Given the description of an element on the screen output the (x, y) to click on. 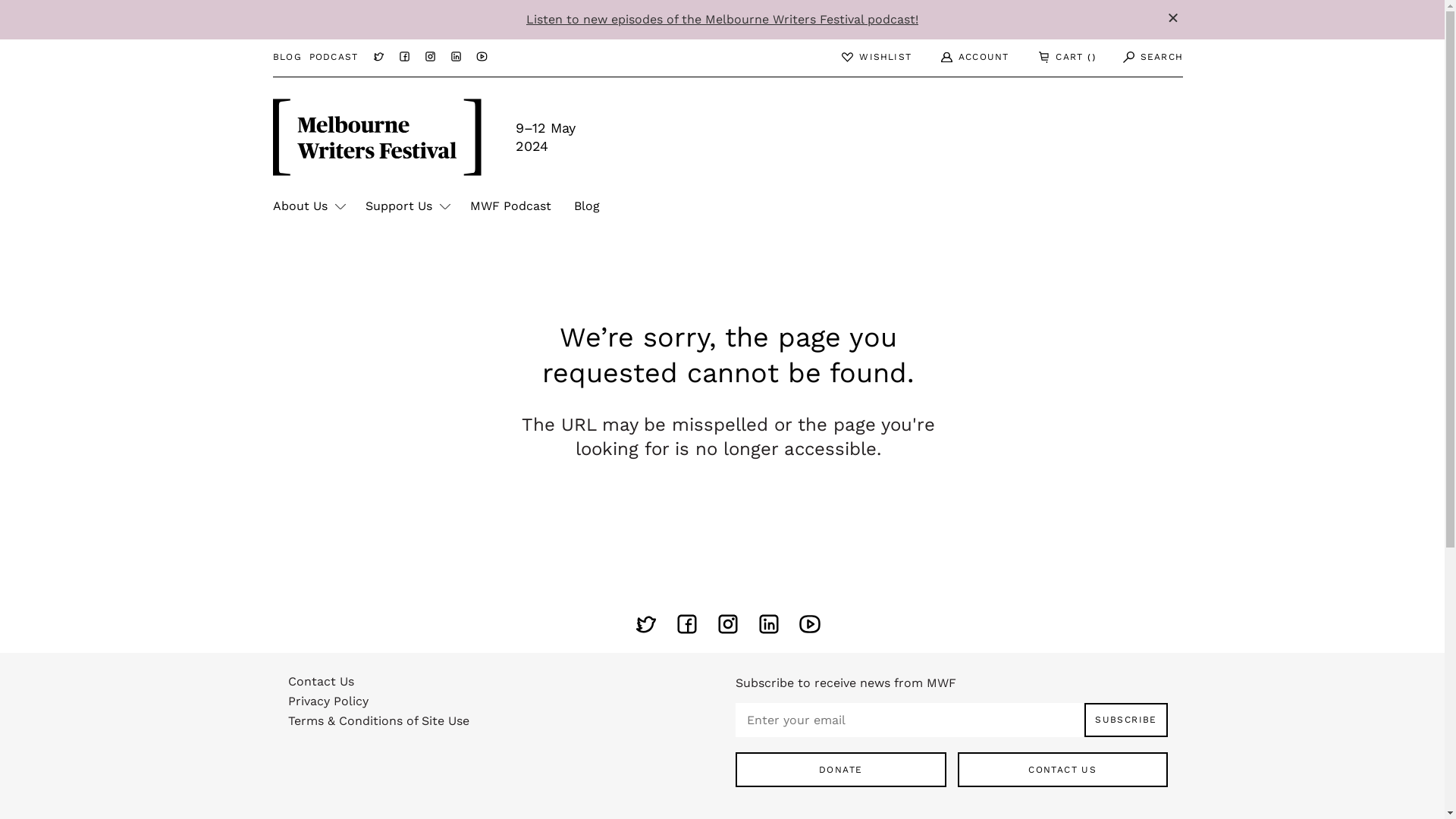
Support Us Element type: text (406, 206)
DONATE Element type: text (840, 769)
Blog Element type: text (586, 206)
Search Element type: text (1145, 58)
Contact Us Element type: text (504, 685)
Privacy Policy Element type: text (504, 705)
ACCOUNT Element type: text (965, 56)
WISHLIST Element type: text (866, 56)
CONTACT US Element type: text (1062, 769)
Terms & Conditions of Site Use Element type: text (504, 724)
About Us Element type: text (307, 206)
BLOG Element type: text (287, 57)
CART () Element type: text (1057, 56)
PODCAST Element type: text (333, 57)
Subscribe Element type: text (1125, 719)
MWF Podcast Element type: text (510, 206)
